Given the description of an element on the screen output the (x, y) to click on. 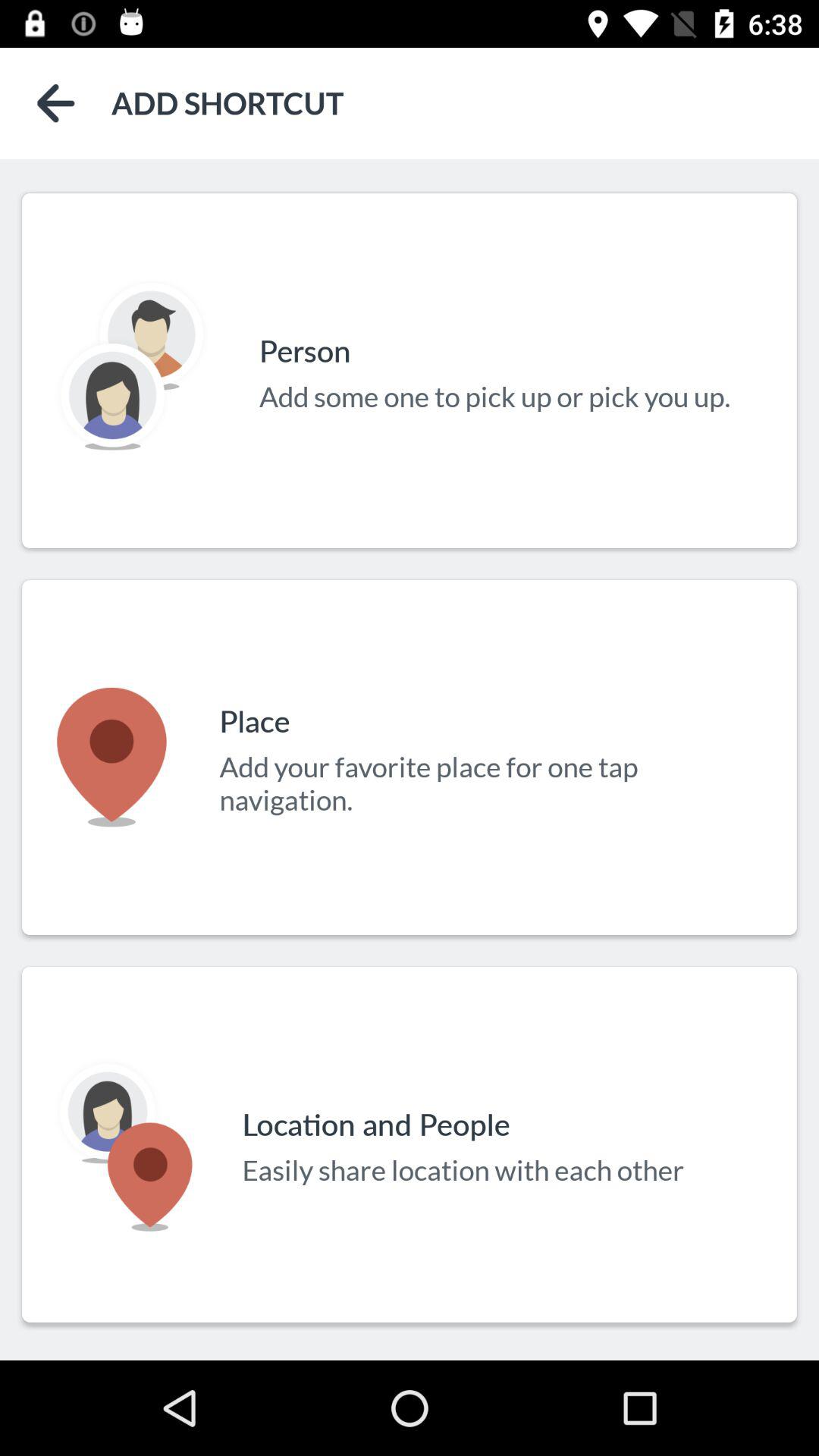
option to return (55, 103)
